Given the description of an element on the screen output the (x, y) to click on. 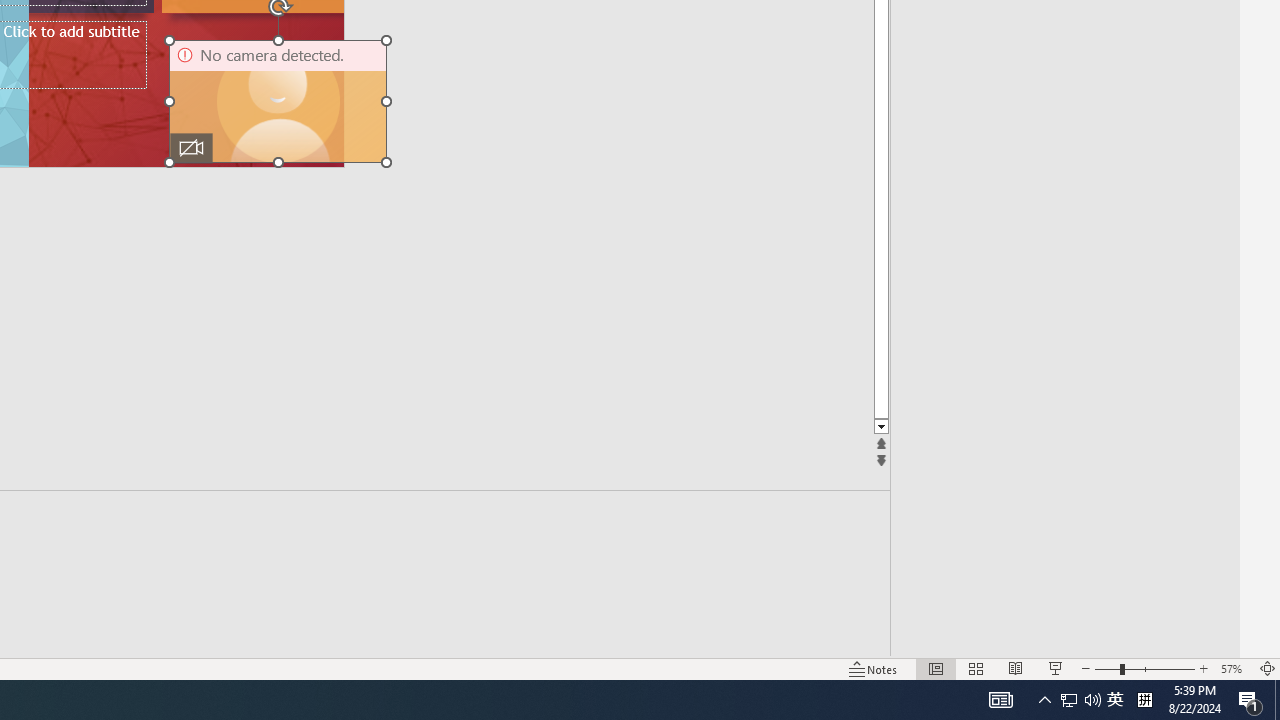
Zoom In (1204, 668)
Reading View (1015, 668)
Camera 11, No camera detected. (278, 101)
Zoom to Fit  (1267, 668)
Zoom 57% (1234, 668)
Zoom (1144, 668)
Slide Sorter (975, 668)
Notes  (874, 668)
Normal (936, 668)
Line down (1230, 427)
Zoom Out (1107, 668)
Camera 14, No camera detected. (278, 101)
